Given the description of an element on the screen output the (x, y) to click on. 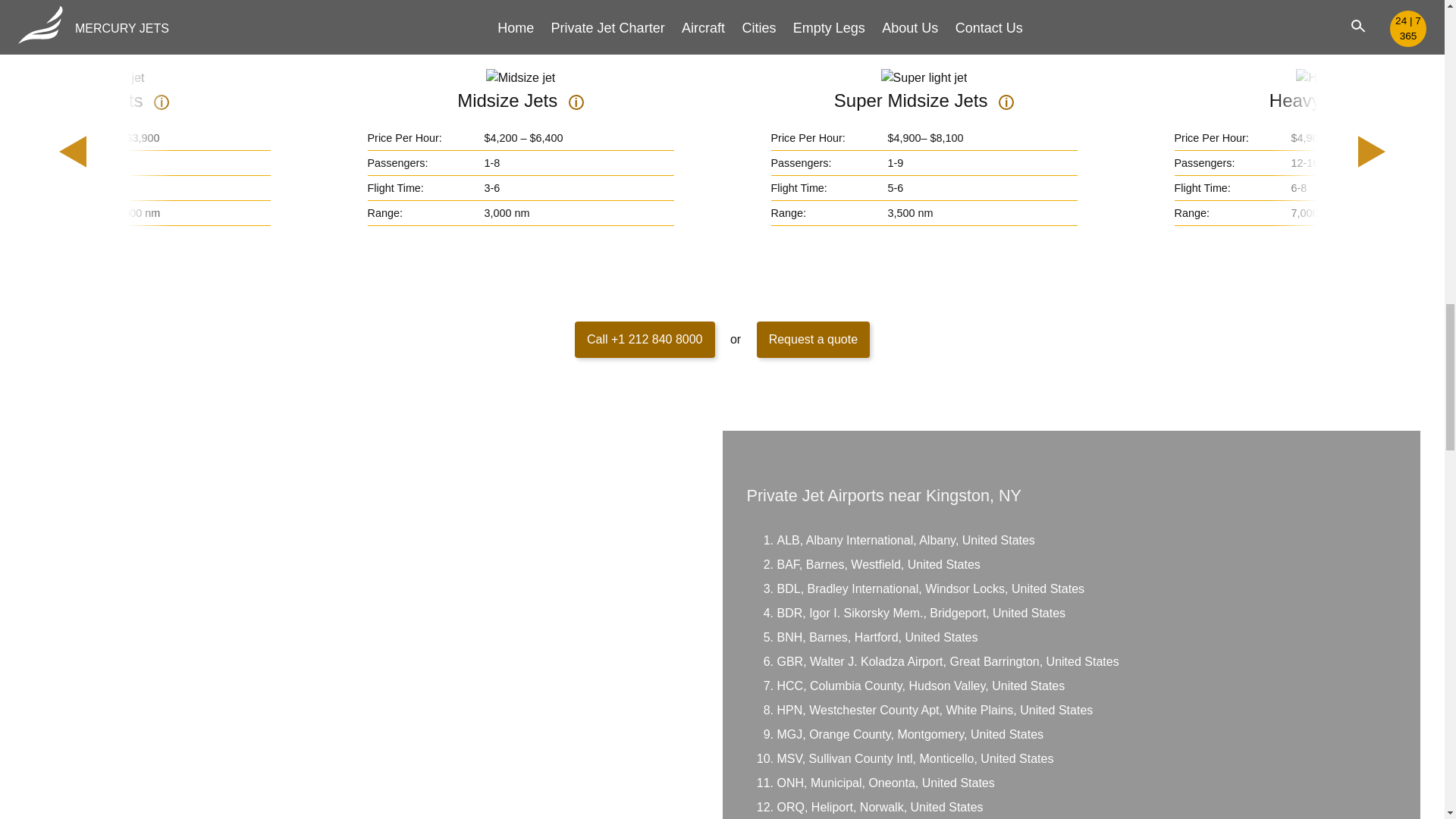
Request a quote (813, 339)
